Given the description of an element on the screen output the (x, y) to click on. 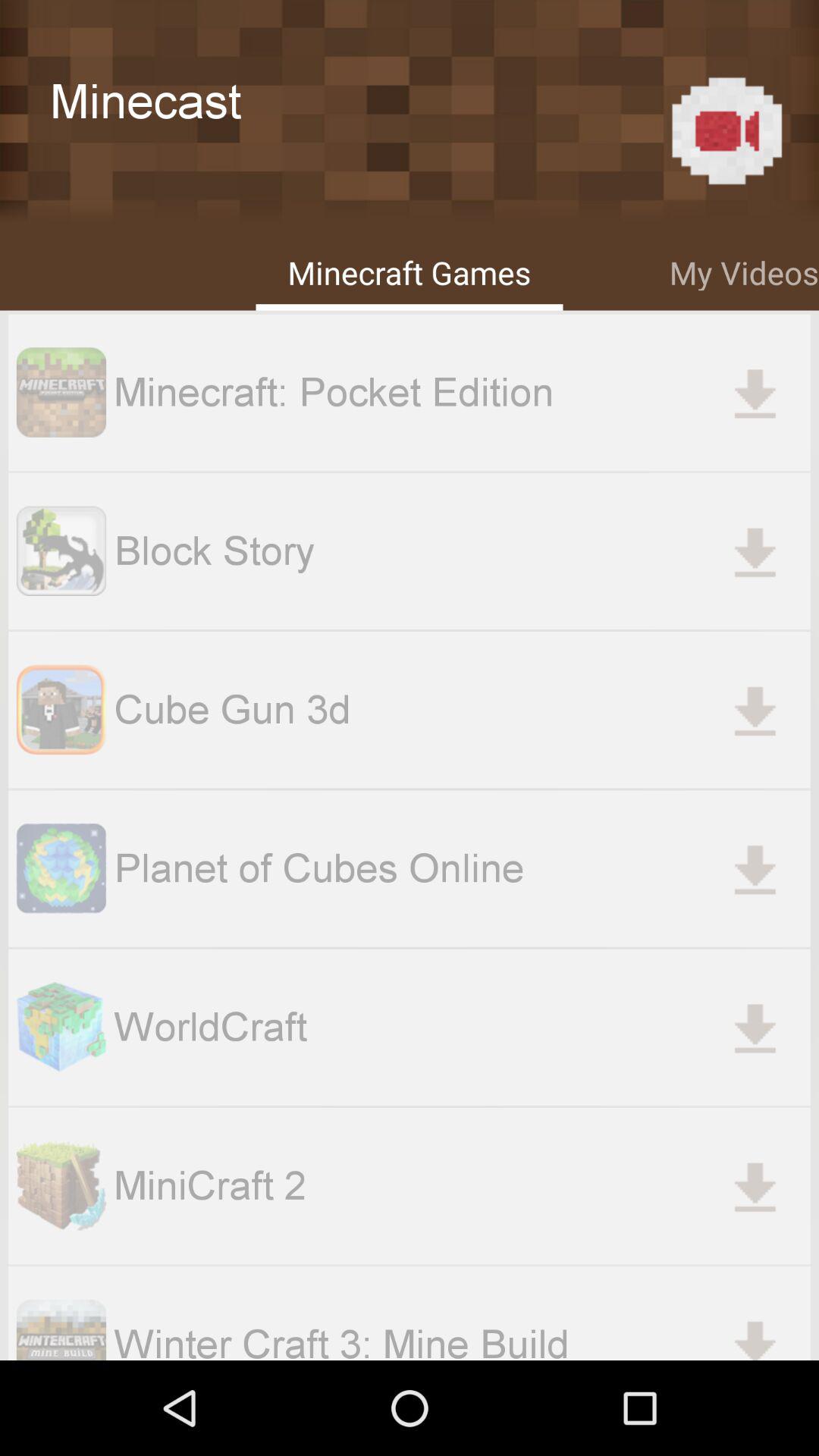
scroll to the my videos item (744, 270)
